Given the description of an element on the screen output the (x, y) to click on. 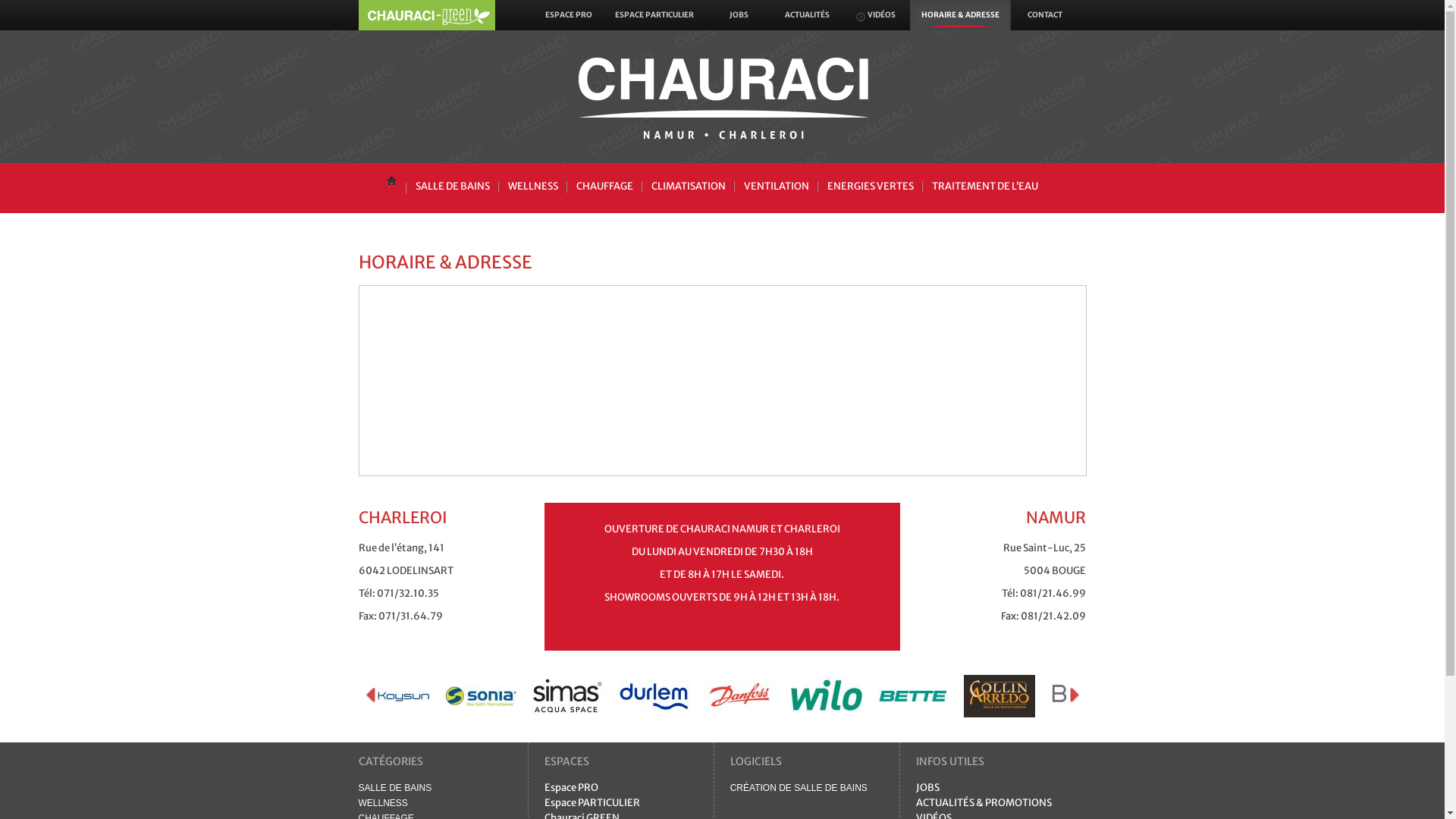
ENERGIES VERTES Element type: text (869, 186)
WELLNESS Element type: text (382, 802)
ESPACE PARTICULIER Element type: text (654, 15)
Espace PARTICULIER Element type: text (592, 802)
JOBS Element type: text (739, 15)
ESPACE PRO Element type: text (568, 15)
HORAIRE & ADRESSE Element type: text (960, 15)
CONTACT Element type: text (1044, 15)
SALLE DE BAINS Element type: text (452, 186)
CHAUFFAGE Element type: text (604, 186)
SALLE DE BAINS Element type: text (394, 787)
Espace PRO Element type: text (571, 787)
Next Element type: text (1071, 695)
CLIMATISATION Element type: text (687, 186)
VENTILATION Element type: text (775, 186)
Previous Element type: text (371, 695)
JOBS Element type: text (927, 787)
WELLNESS Element type: text (532, 186)
